Given the description of an element on the screen output the (x, y) to click on. 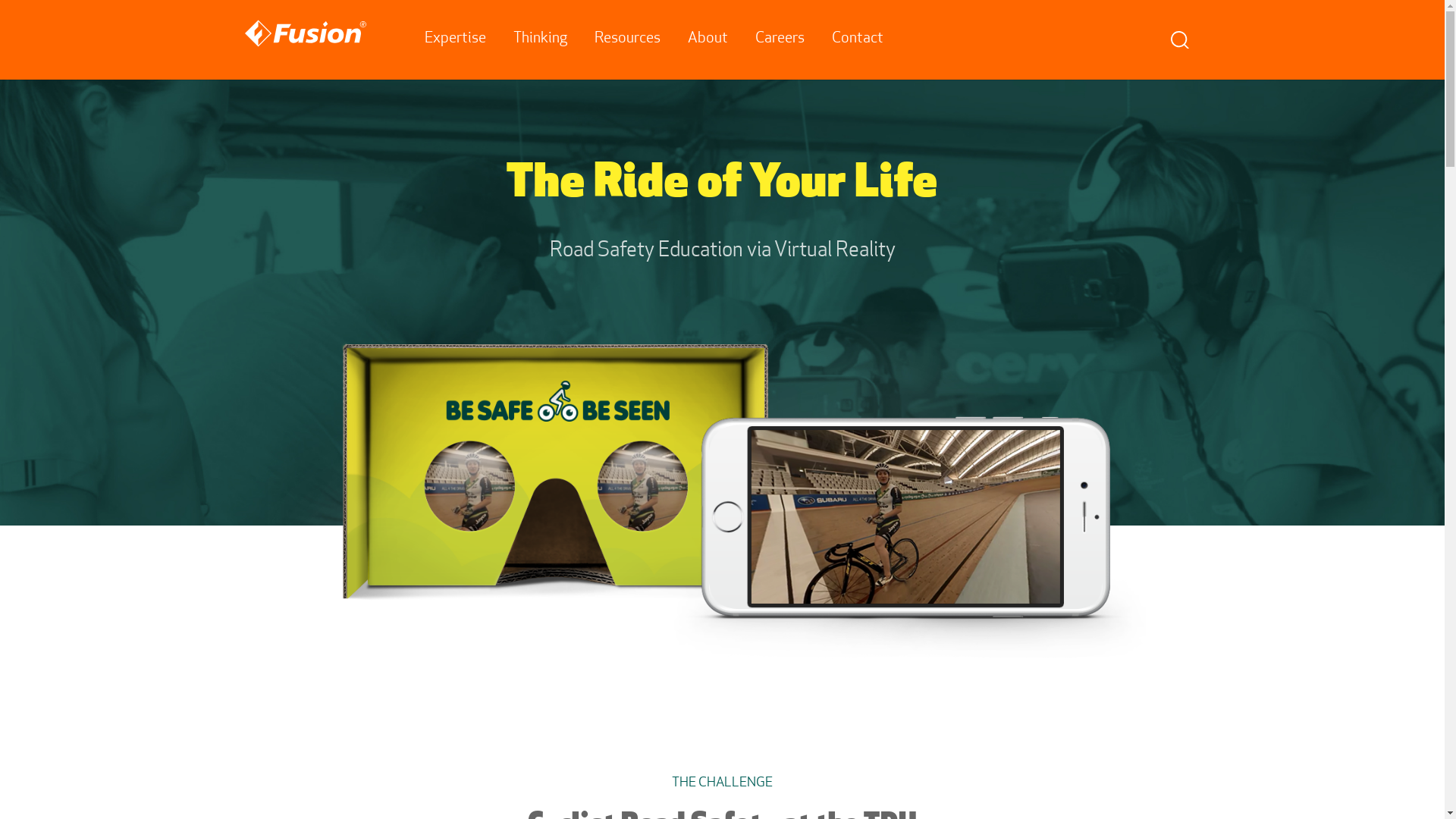
Resources Element type: text (627, 39)
Thinking Element type: text (539, 39)
Expertise Element type: text (455, 39)
Careers Element type: text (779, 39)
Contact Element type: text (857, 39)
About Element type: text (707, 39)
